Given the description of an element on the screen output the (x, y) to click on. 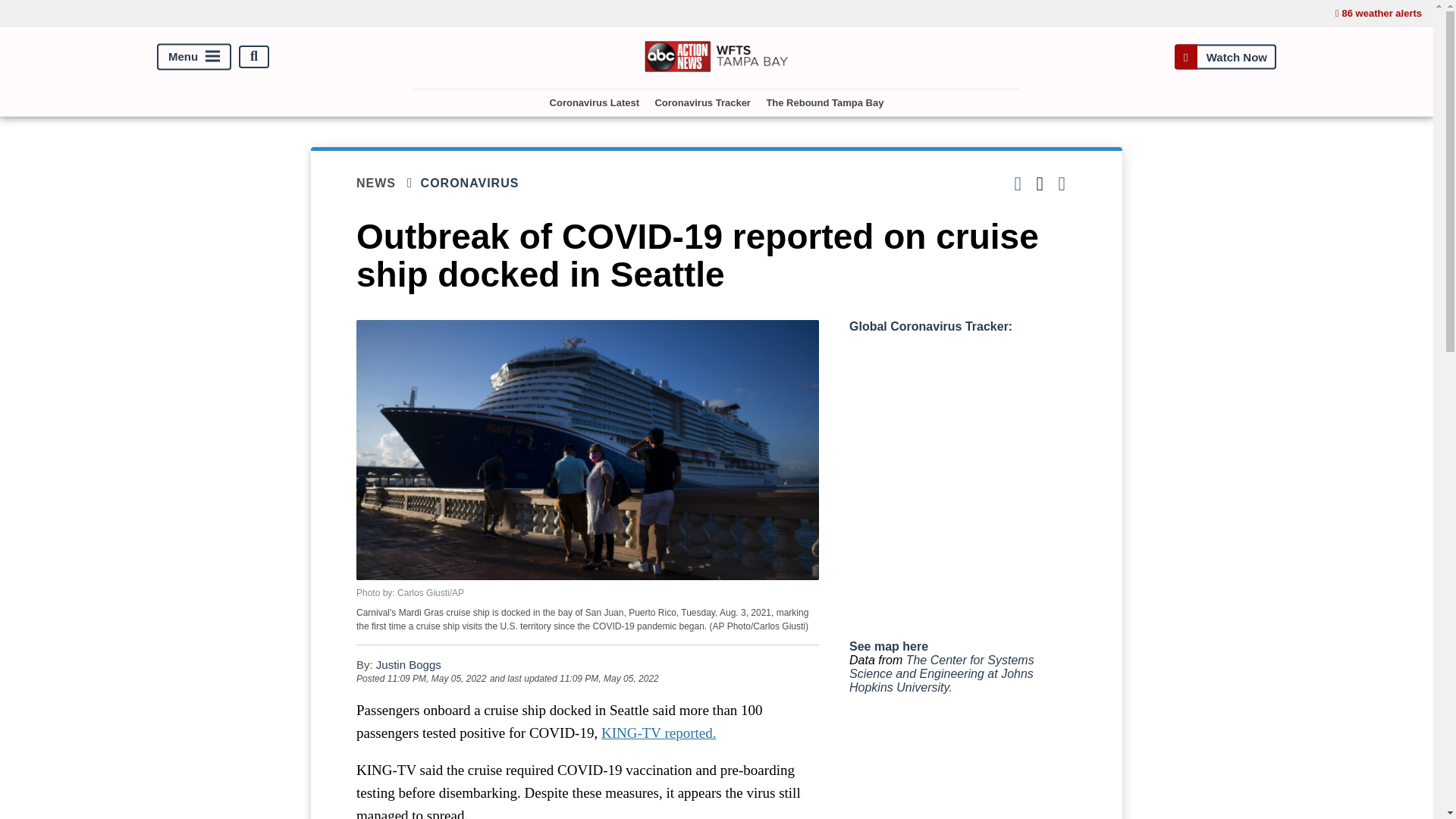
Watch Now (1224, 56)
Menu (194, 56)
